Given the description of an element on the screen output the (x, y) to click on. 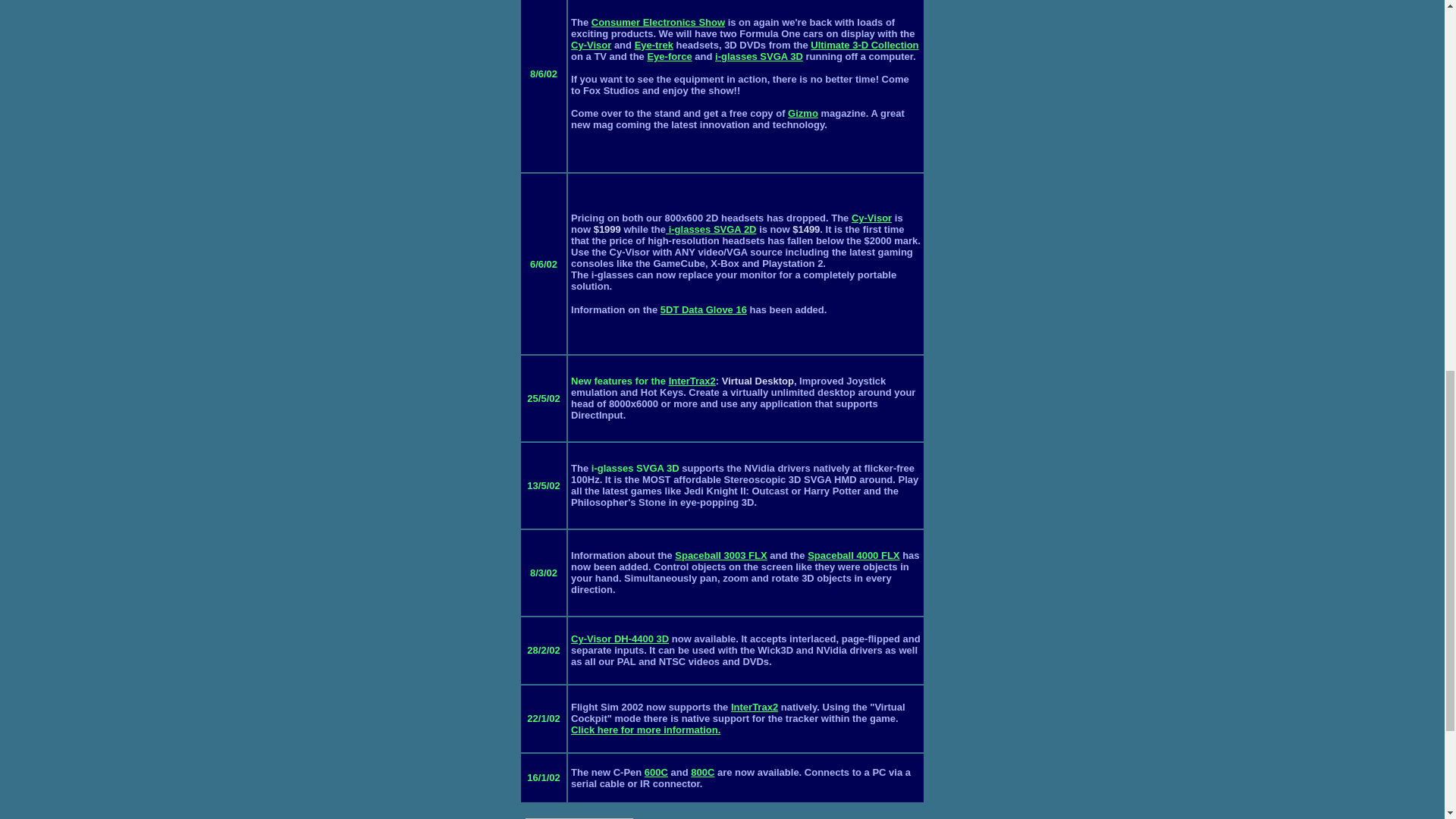
Eye-trek (653, 44)
Cy-Visor DH-4400 3D (619, 638)
800C (702, 772)
5DT Data Glove 16 (703, 309)
Eye-force (668, 56)
Click here for more information. (645, 729)
Spaceball 4000 FLX (853, 555)
Gizmo (802, 112)
Consumer Electronics Show (658, 21)
Ultimate 3-D Collection (864, 44)
Spaceball 3003 FLX (721, 555)
InterTrax2 (692, 380)
i-glasses SVGA 3D (758, 56)
Cy-Visor (590, 44)
